Given the description of an element on the screen output the (x, y) to click on. 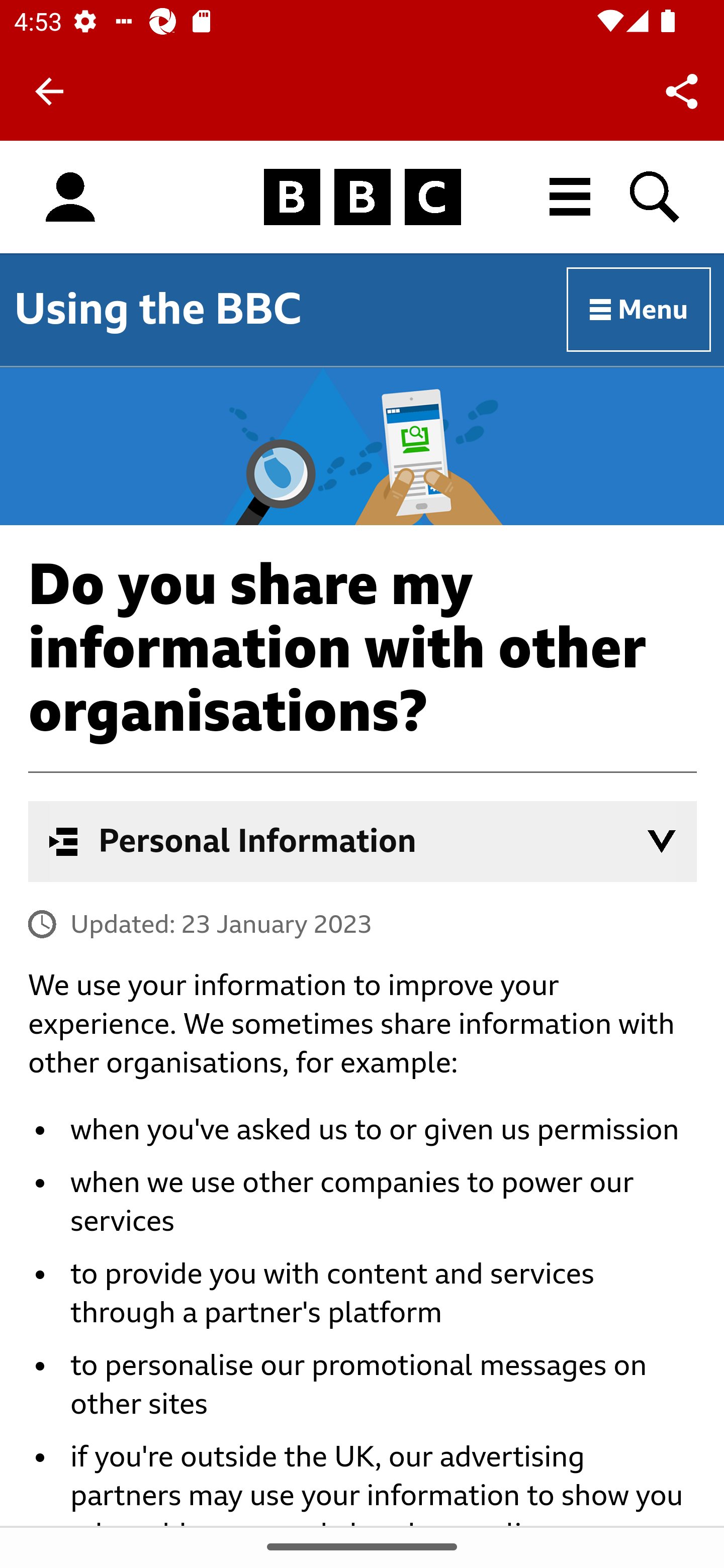
Back (49, 91)
Share (681, 90)
All BBC destinations menu (570, 197)
Search BBC (655, 197)
Sign in (70, 198)
Homepage (361, 198)
Menu (639, 310)
Using the BBC (157, 308)
Personal Information (362, 840)
